Given the description of an element on the screen output the (x, y) to click on. 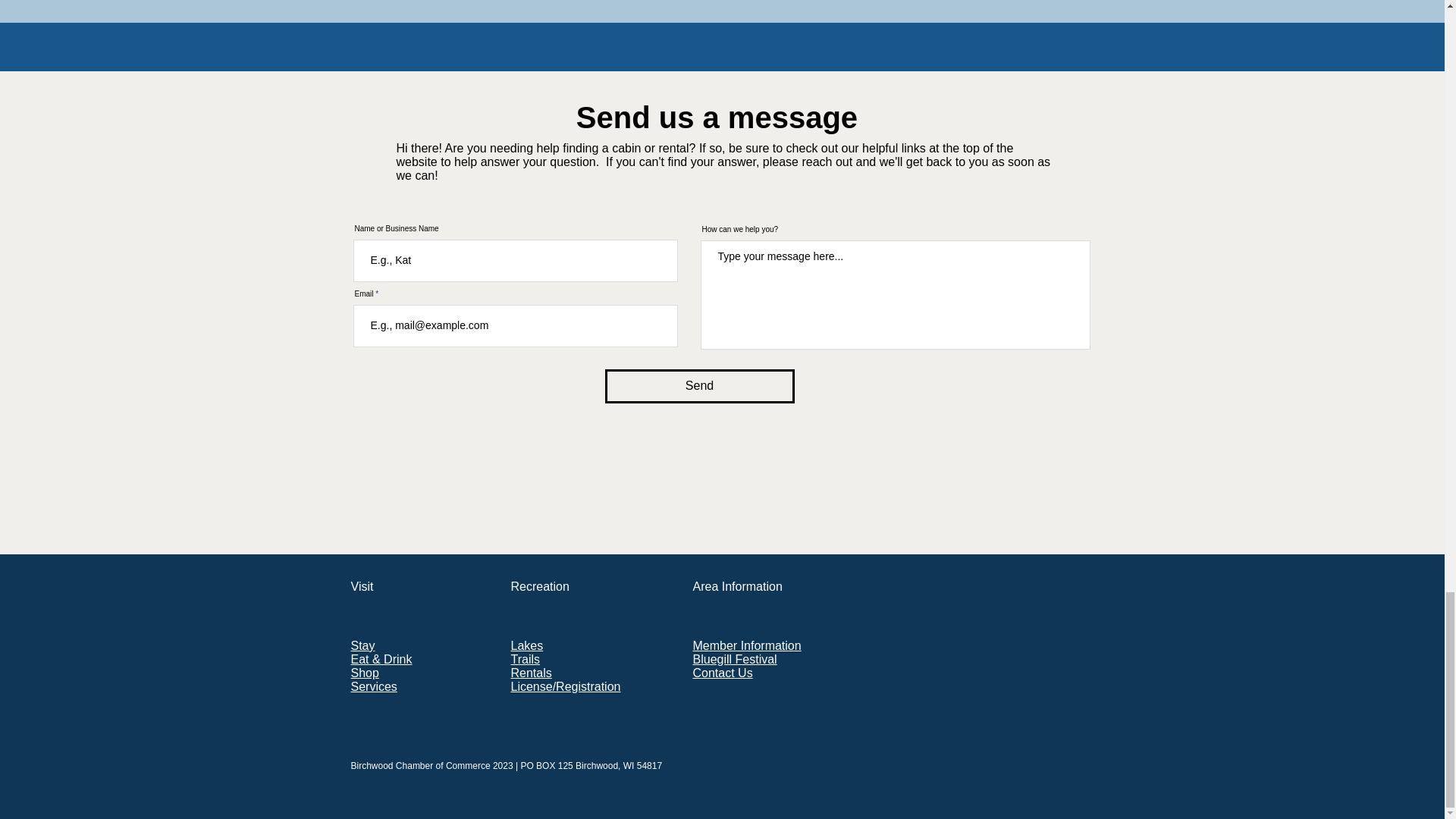
Send (699, 386)
Shop (364, 672)
Stay (362, 645)
